Given the description of an element on the screen output the (x, y) to click on. 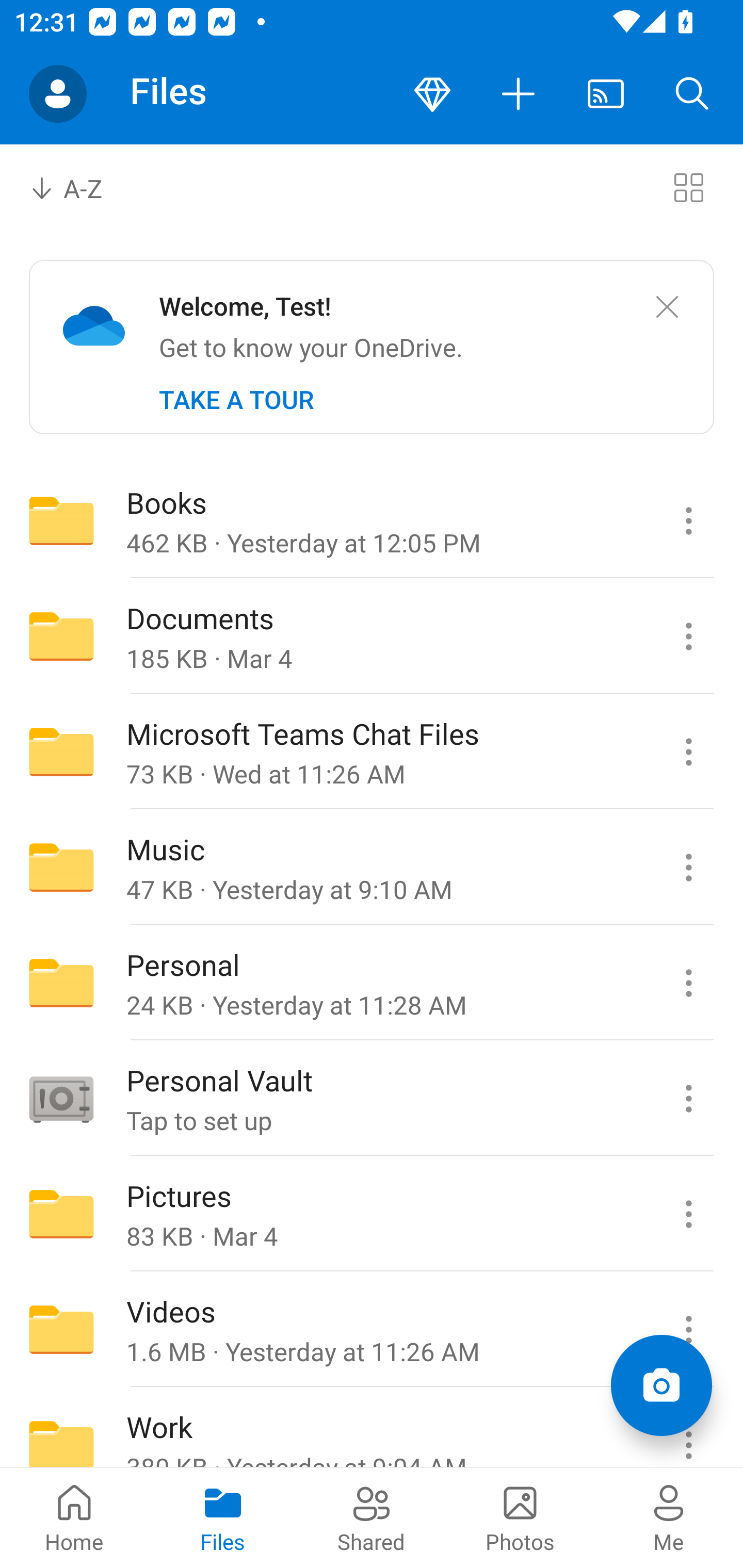
Account switcher (57, 93)
Cast. Disconnected (605, 93)
Premium button (432, 93)
More actions button (518, 93)
Search button (692, 93)
A-Z Sort by combo box, sort by name, A to Z (80, 187)
Switch to tiles view (688, 187)
Close (667, 307)
TAKE A TOUR (236, 399)
Books commands (688, 520)
Folder Documents 185 KB · Mar 4 Documents commands (371, 636)
Documents commands (688, 636)
Microsoft Teams Chat Files commands (688, 751)
Music commands (688, 867)
Personal commands (688, 983)
Personal Vault commands (688, 1099)
Folder Pictures 83 KB · Mar 4 Pictures commands (371, 1214)
Pictures commands (688, 1214)
Videos commands (688, 1329)
Add items Scan (660, 1385)
Work commands (688, 1427)
Home pivot Home (74, 1517)
Shared pivot Shared (371, 1517)
Photos pivot Photos (519, 1517)
Me pivot Me (668, 1517)
